Given the description of an element on the screen output the (x, y) to click on. 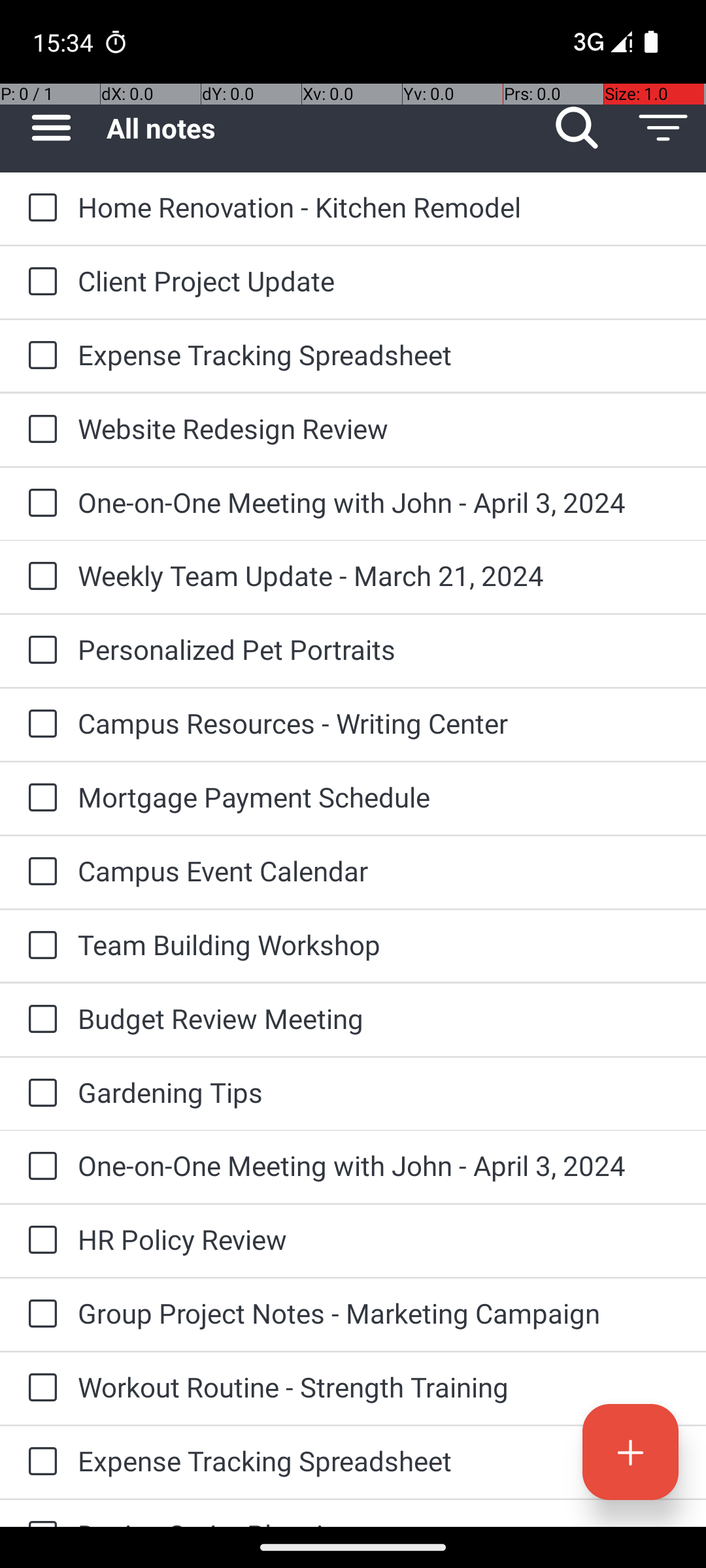
to-do: Home Renovation - Kitchen Remodel Element type: android.widget.CheckBox (38, 208)
Home Renovation - Kitchen Remodel Element type: android.widget.TextView (378, 206)
to-do: Website Redesign Review Element type: android.widget.CheckBox (38, 429)
Website Redesign Review Element type: android.widget.TextView (378, 427)
to-do: Weekly Team Update - March 21, 2024 Element type: android.widget.CheckBox (38, 576)
Weekly Team Update - March 21, 2024 Element type: android.widget.TextView (378, 574)
to-do: Personalized Pet Portraits Element type: android.widget.CheckBox (38, 650)
Personalized Pet Portraits Element type: android.widget.TextView (378, 648)
to-do: Campus Resources - Writing Center Element type: android.widget.CheckBox (38, 724)
to-do: Team Building Workshop Element type: android.widget.CheckBox (38, 945)
Team Building Workshop Element type: android.widget.TextView (378, 944)
to-do: Workout Routine - Strength Training Element type: android.widget.CheckBox (38, 1388)
Workout Routine - Strength Training Element type: android.widget.TextView (378, 1386)
